Given the description of an element on the screen output the (x, y) to click on. 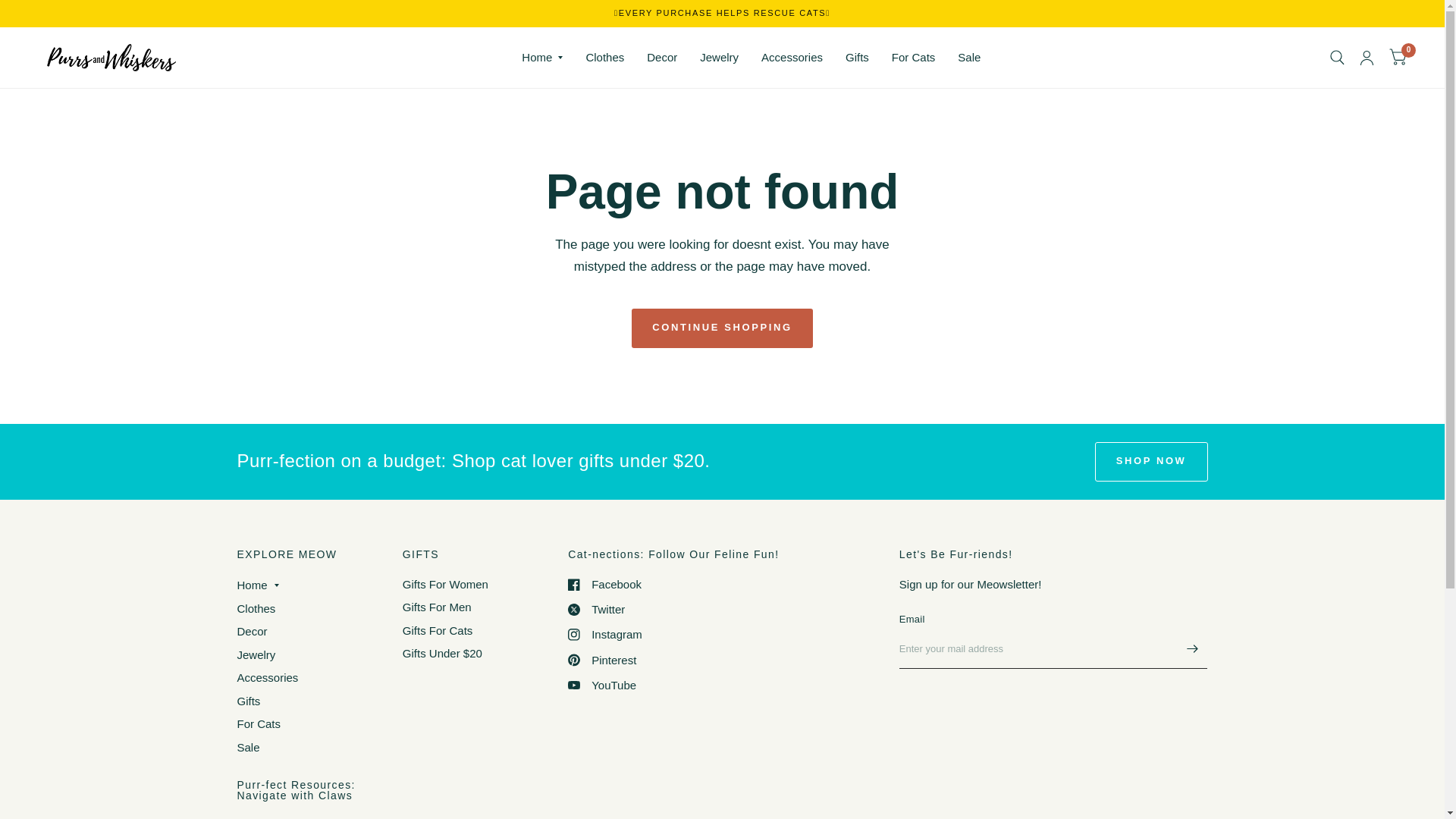
Home (541, 57)
